Given the description of an element on the screen output the (x, y) to click on. 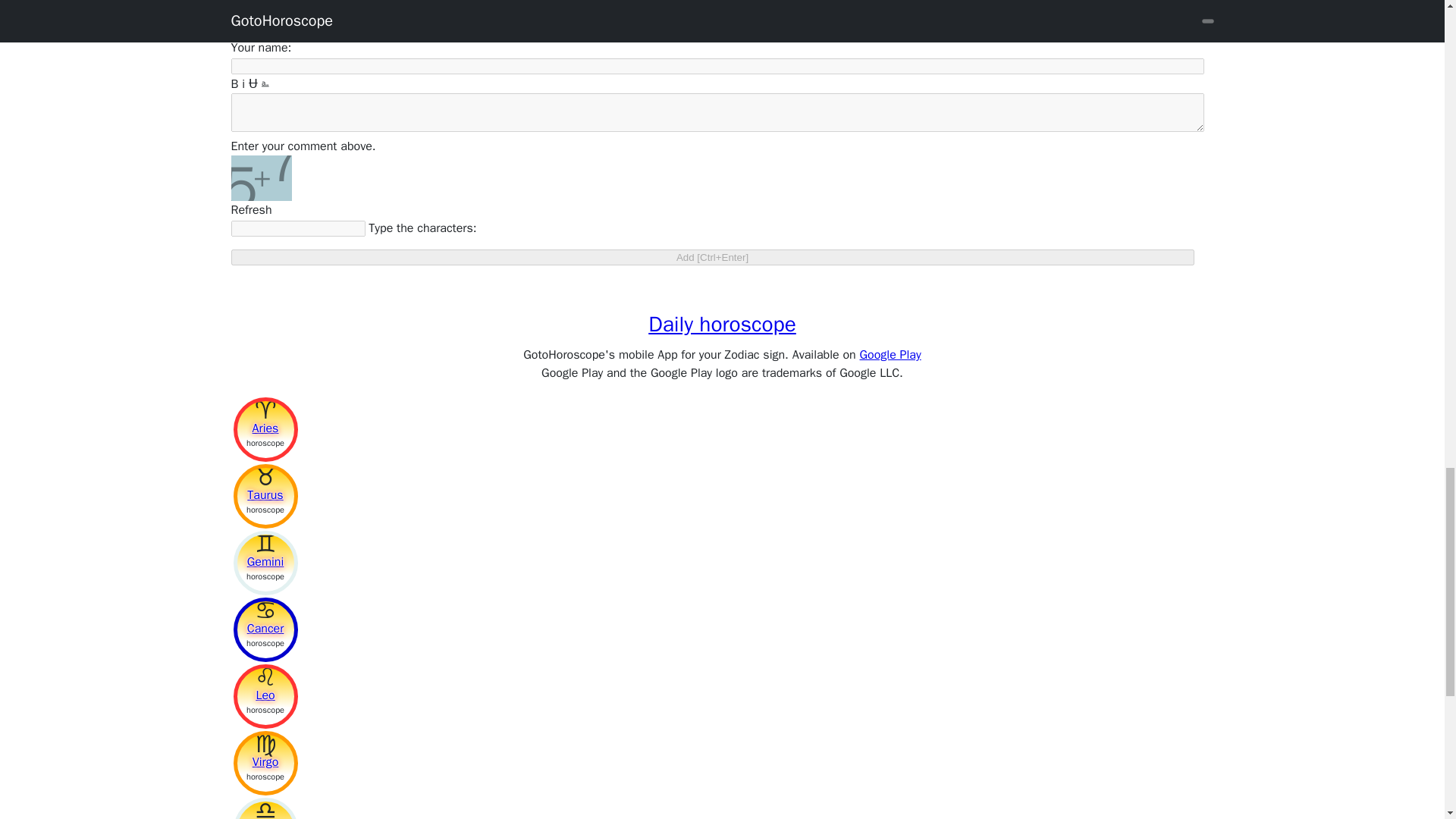
Refresh (250, 209)
